Given the description of an element on the screen output the (x, y) to click on. 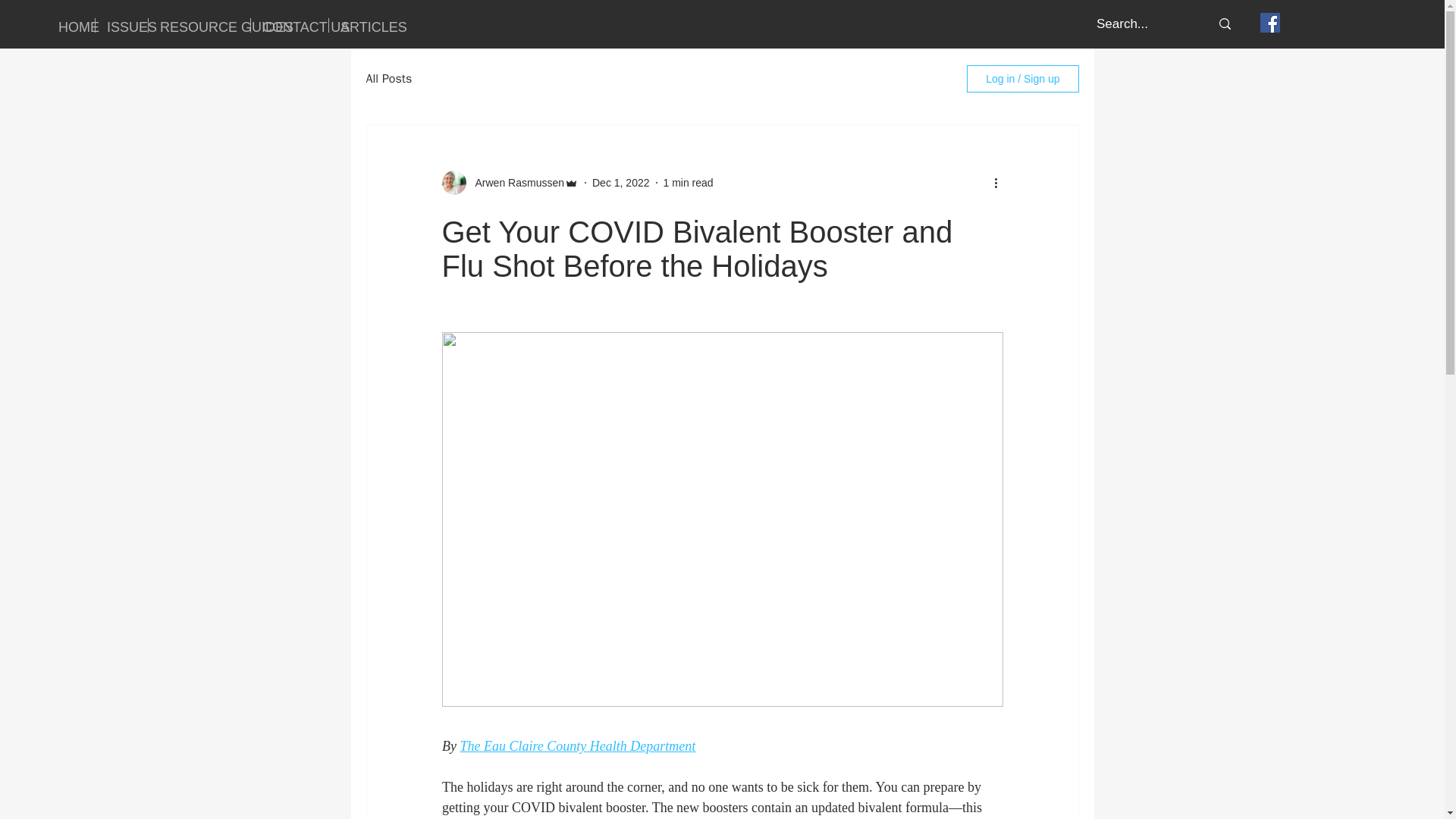
Arwen  Rasmussen (514, 182)
1 min read (687, 182)
CONTACT US (289, 25)
HOME (70, 25)
ARTICLES (361, 25)
Dec 1, 2022 (620, 182)
RESOURCE GUIDES (199, 25)
The Eau Claire County Health Department (577, 745)
ISSUES (122, 25)
All Posts (388, 78)
